Given the description of an element on the screen output the (x, y) to click on. 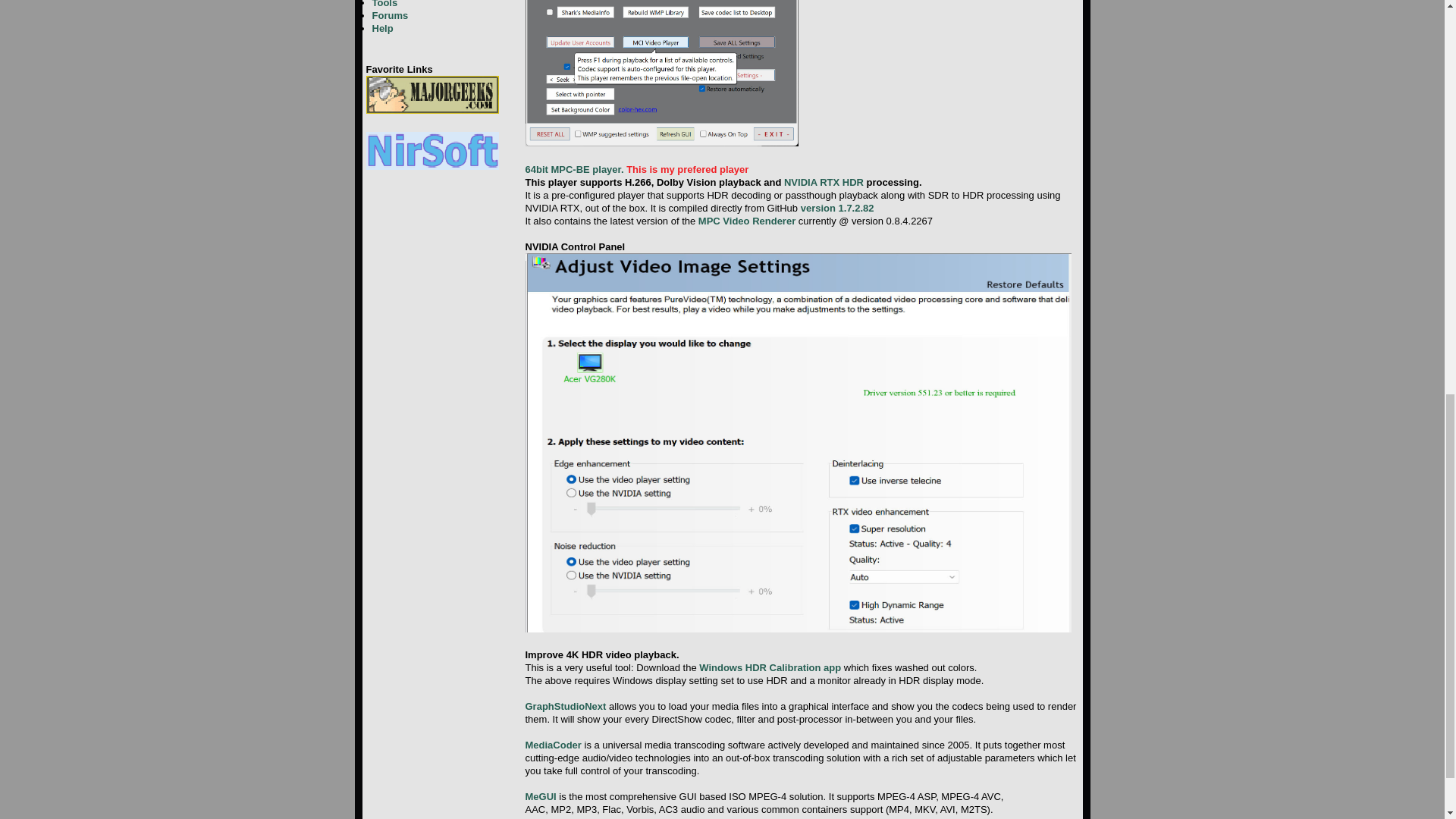
MeGUI (540, 796)
64bit MPC-BE player. (573, 169)
Tools (384, 4)
version 1.7.2.82 (837, 207)
Advertisement (939, 75)
MPC Video Renderer (746, 220)
GraphStudioNext (564, 706)
Forums (389, 15)
Help (382, 28)
MediaCoder (552, 745)
Windows HDR Calibration app (769, 667)
NVIDIA RTX HDR (823, 182)
